Given the description of an element on the screen output the (x, y) to click on. 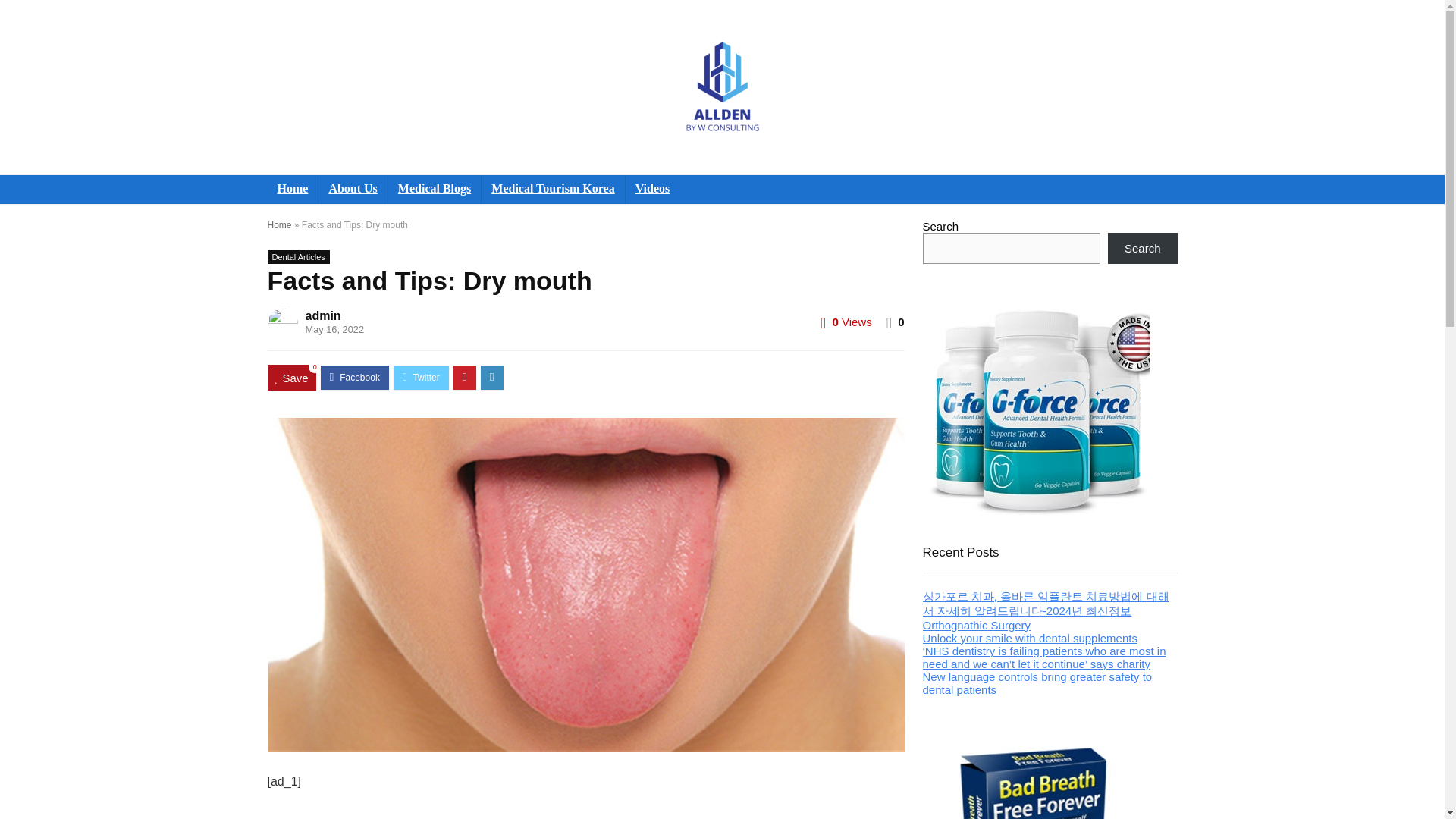
Videos (652, 189)
Medical Blogs (434, 189)
Orthognathic Surgery (975, 625)
admin (322, 315)
View all posts in Dental Articles (297, 256)
Search (1142, 247)
Dental Articles (297, 256)
Medical Tourism Korea (552, 189)
Home (278, 225)
Home (291, 189)
About Us (352, 189)
Unlock your smile with dental supplements (1029, 637)
